Given the description of an element on the screen output the (x, y) to click on. 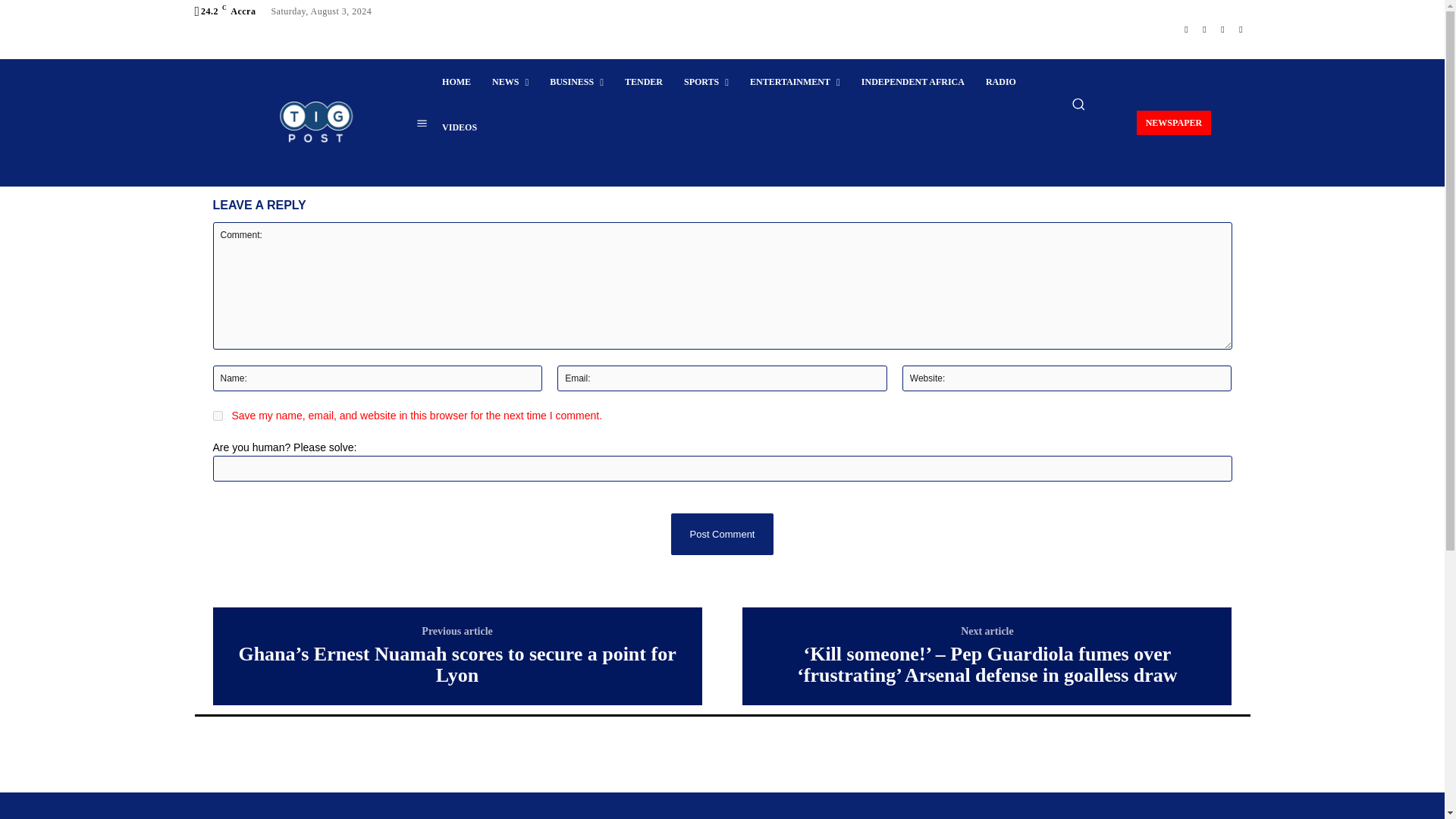
HOME (440, 49)
Youtube (1240, 11)
Twitter (1221, 11)
yes (217, 266)
NEWS (494, 49)
Facebook (1185, 11)
BUSINESS (561, 49)
Post Comment (721, 388)
NEWSPAPER (1139, 49)
Instagram (1203, 11)
